Given the description of an element on the screen output the (x, y) to click on. 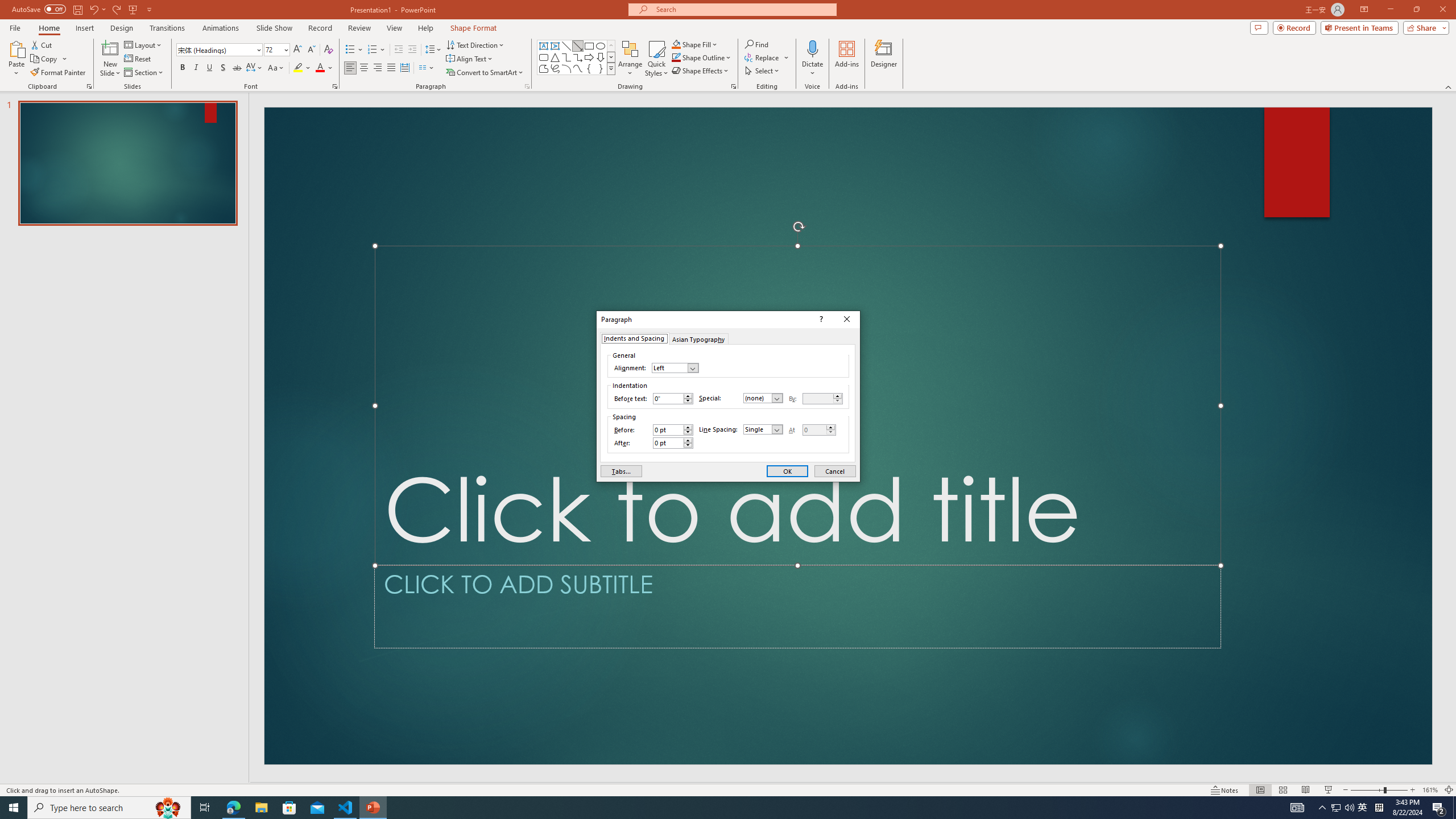
Before (672, 429)
Special (763, 397)
